Given the description of an element on the screen output the (x, y) to click on. 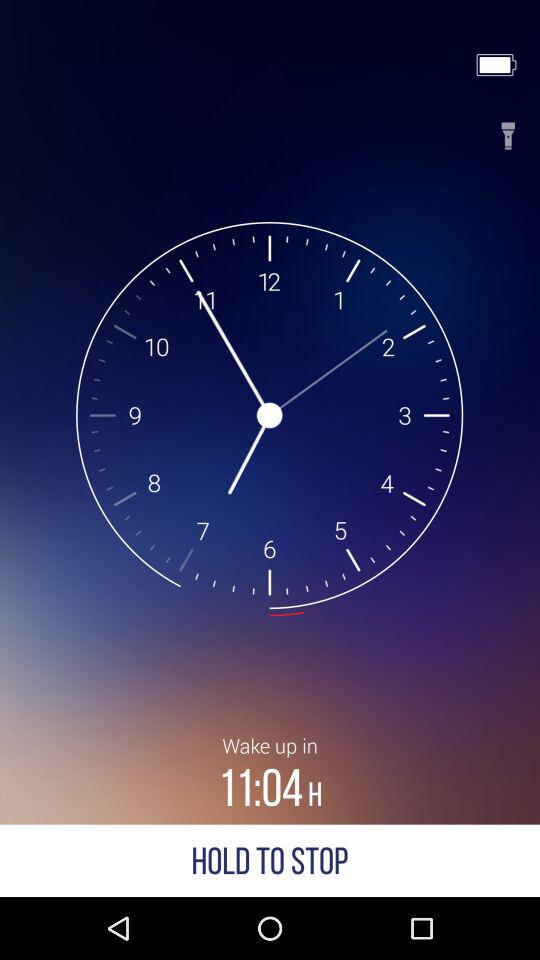
toggle flashlight (508, 129)
